Given the description of an element on the screen output the (x, y) to click on. 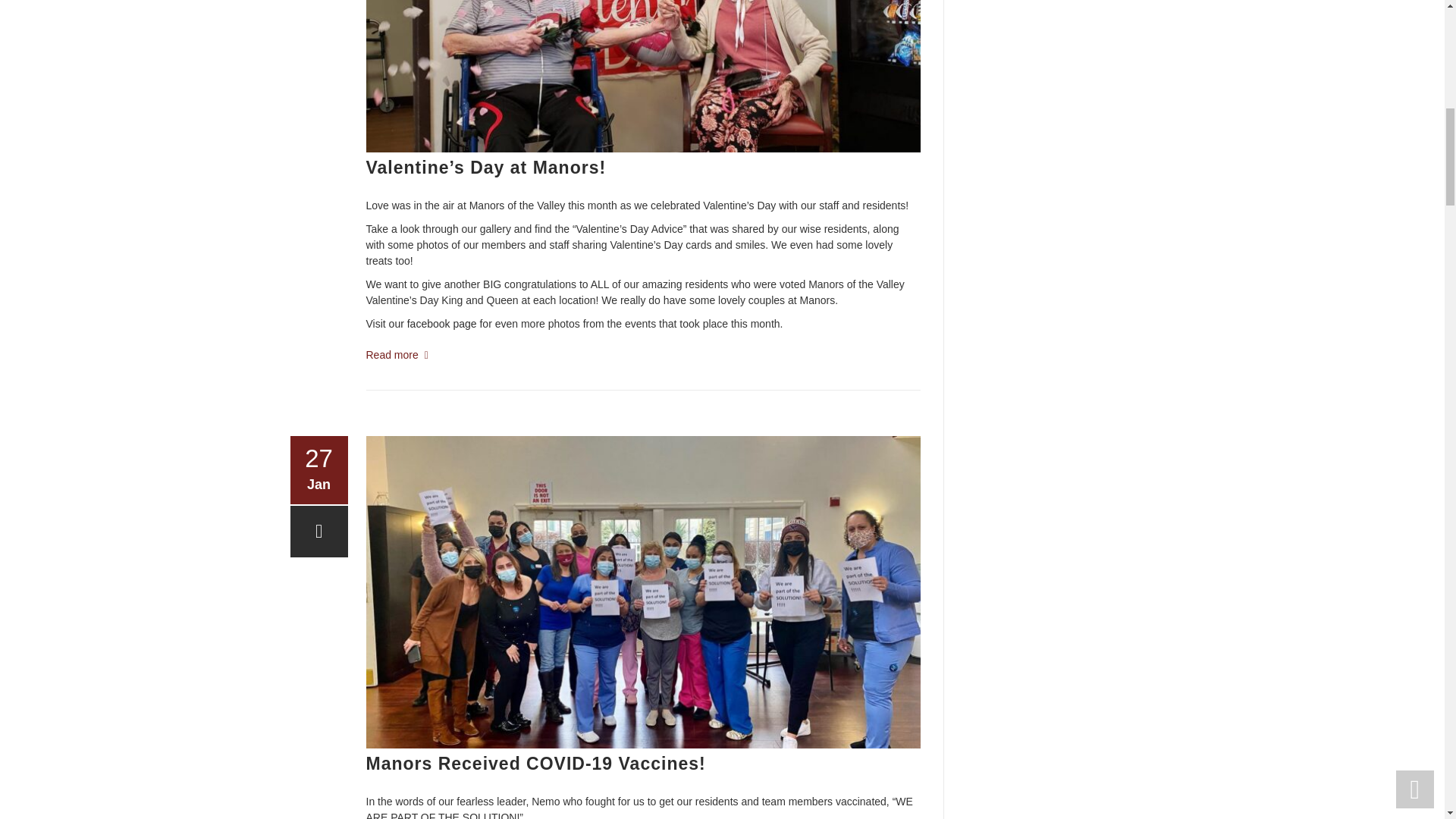
Read more (396, 354)
our facebook page (432, 323)
Manors Received COVID-19 Vaccines! (534, 763)
